Given the description of an element on the screen output the (x, y) to click on. 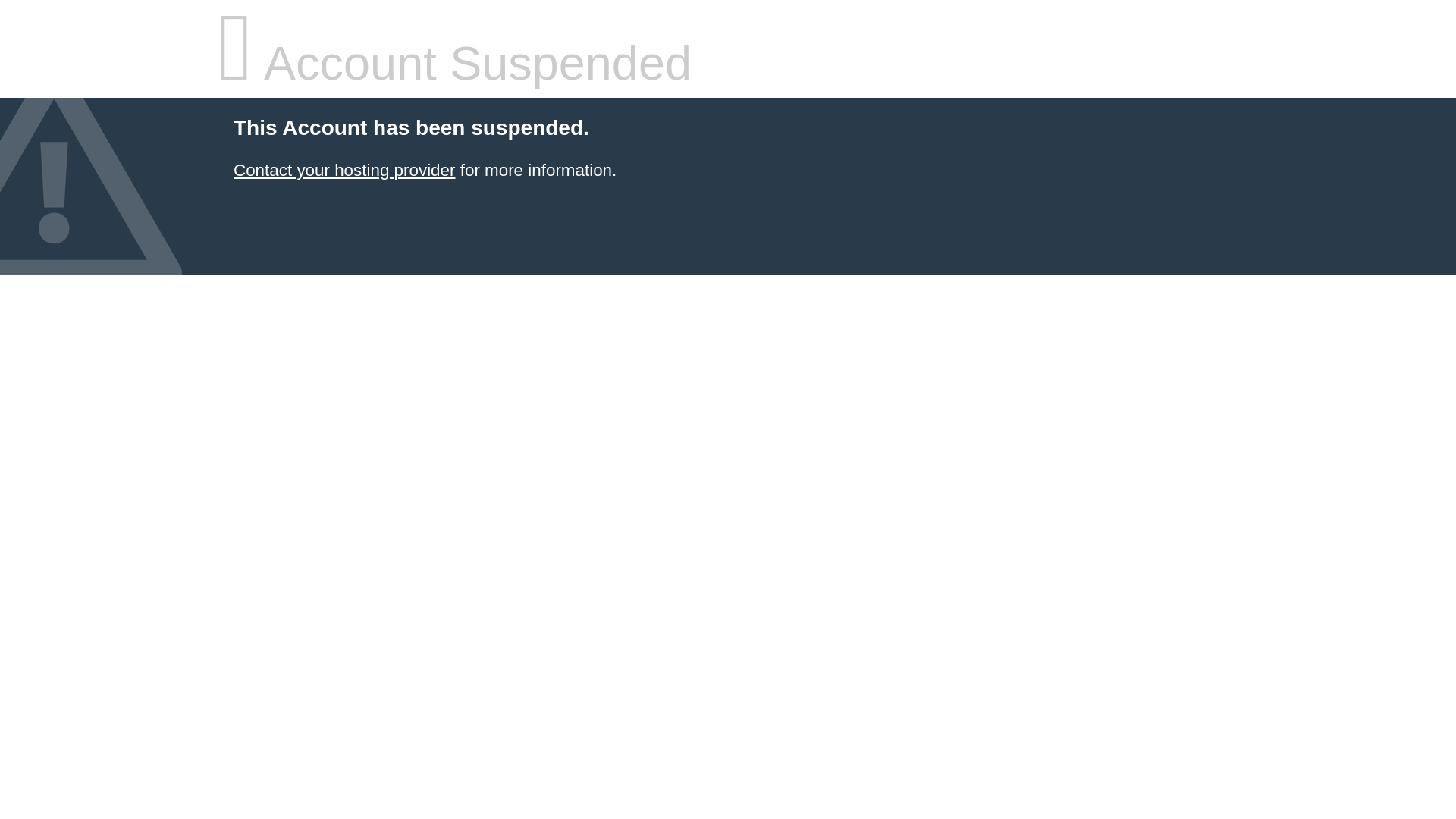
Contact your hosting provider (343, 169)
